Given the description of an element on the screen output the (x, y) to click on. 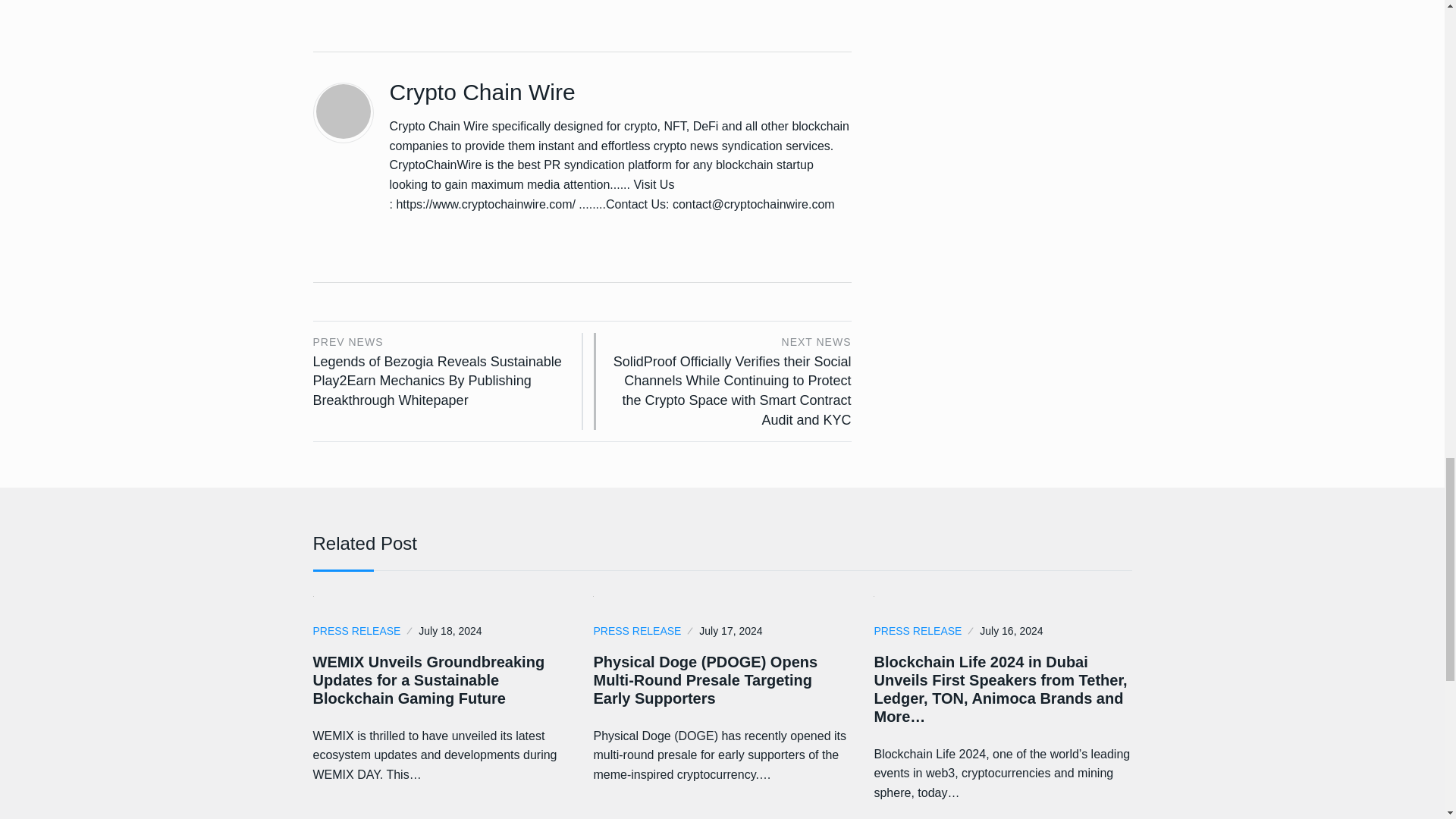
Crypto Chain Wire (482, 91)
